Given the description of an element on the screen output the (x, y) to click on. 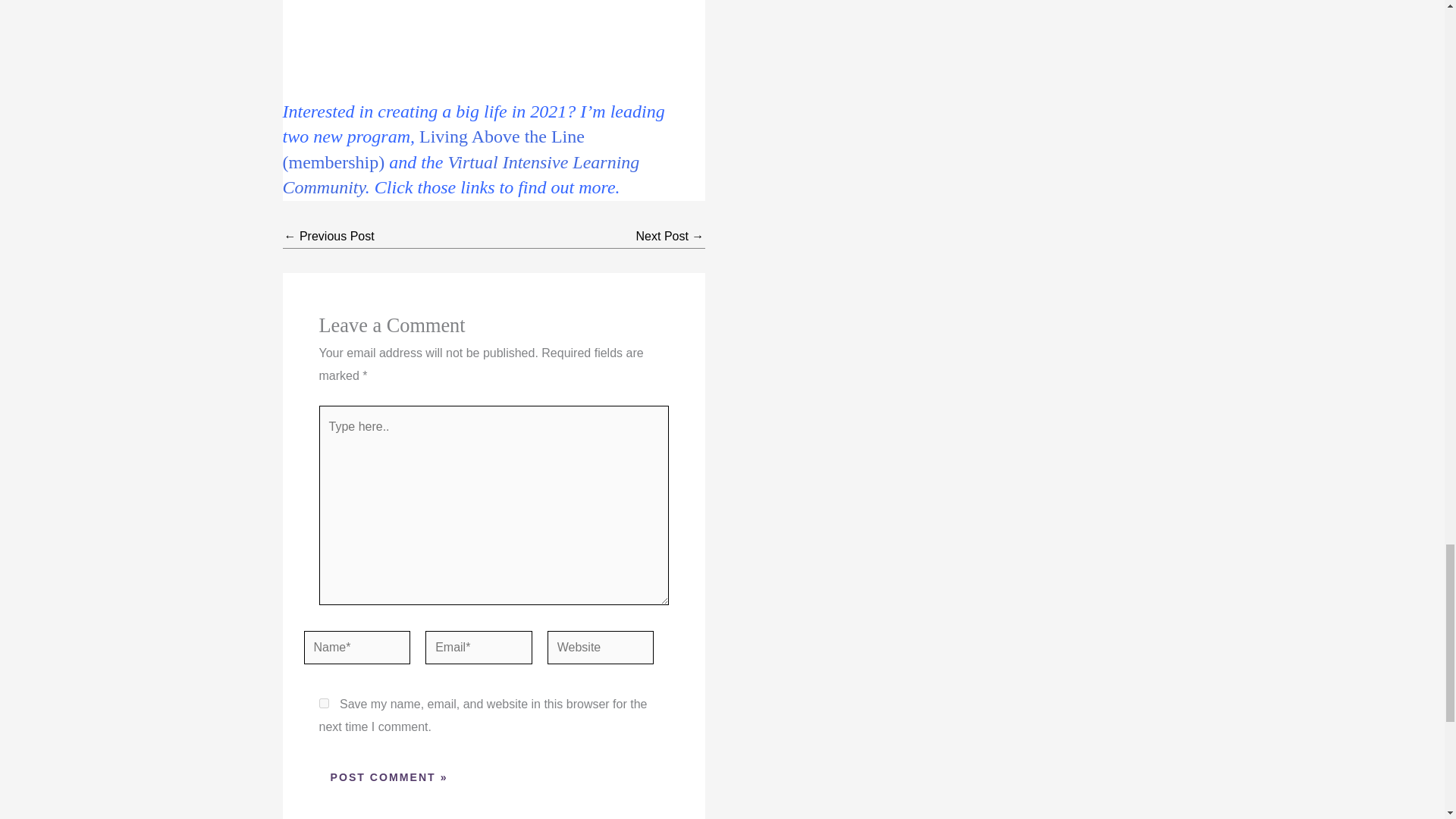
What if we're all doing the best we can? (328, 236)
Lift every voice (670, 236)
yes (323, 703)
